Given the description of an element on the screen output the (x, y) to click on. 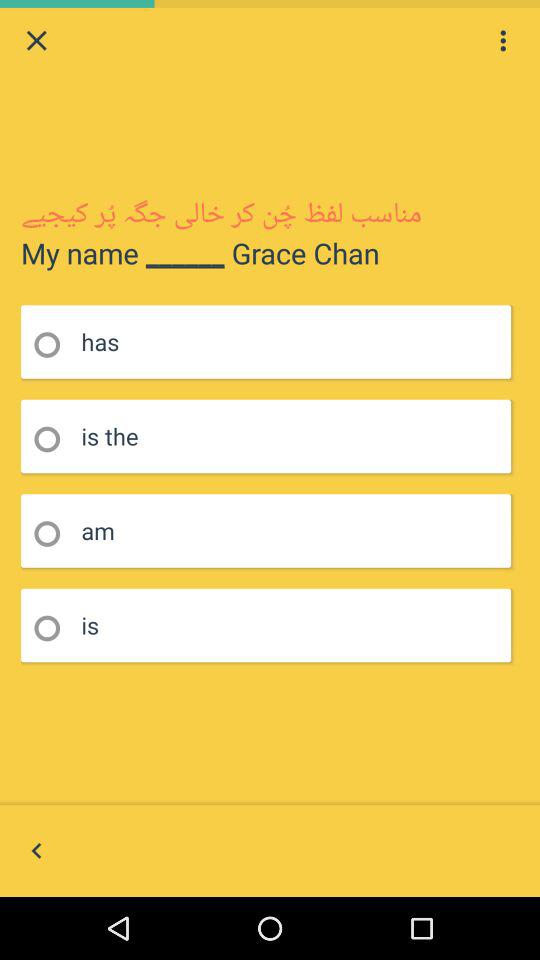
select answer is (53, 628)
